Given the description of an element on the screen output the (x, y) to click on. 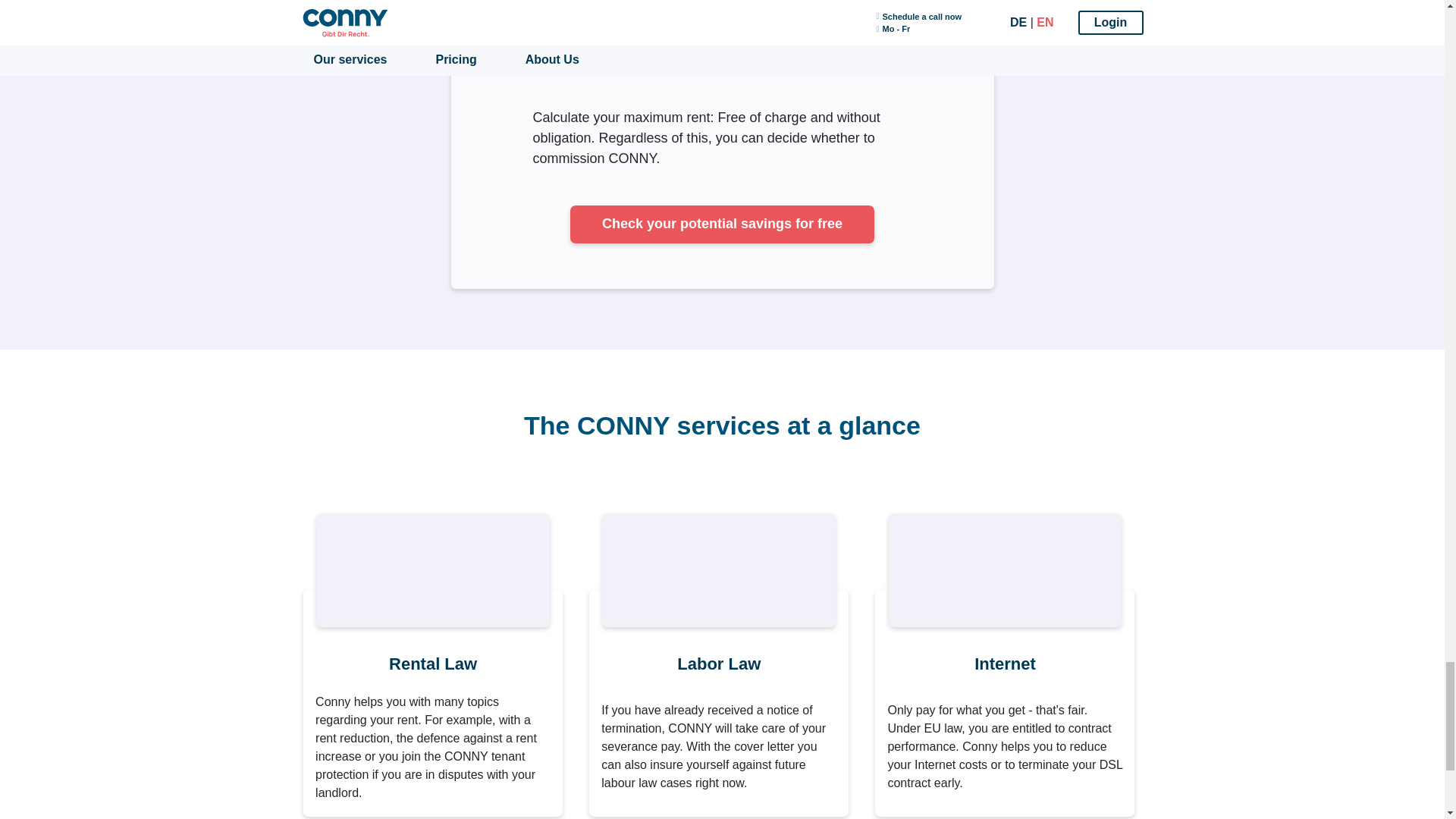
Check your potential savings for free (722, 224)
